Given the description of an element on the screen output the (x, y) to click on. 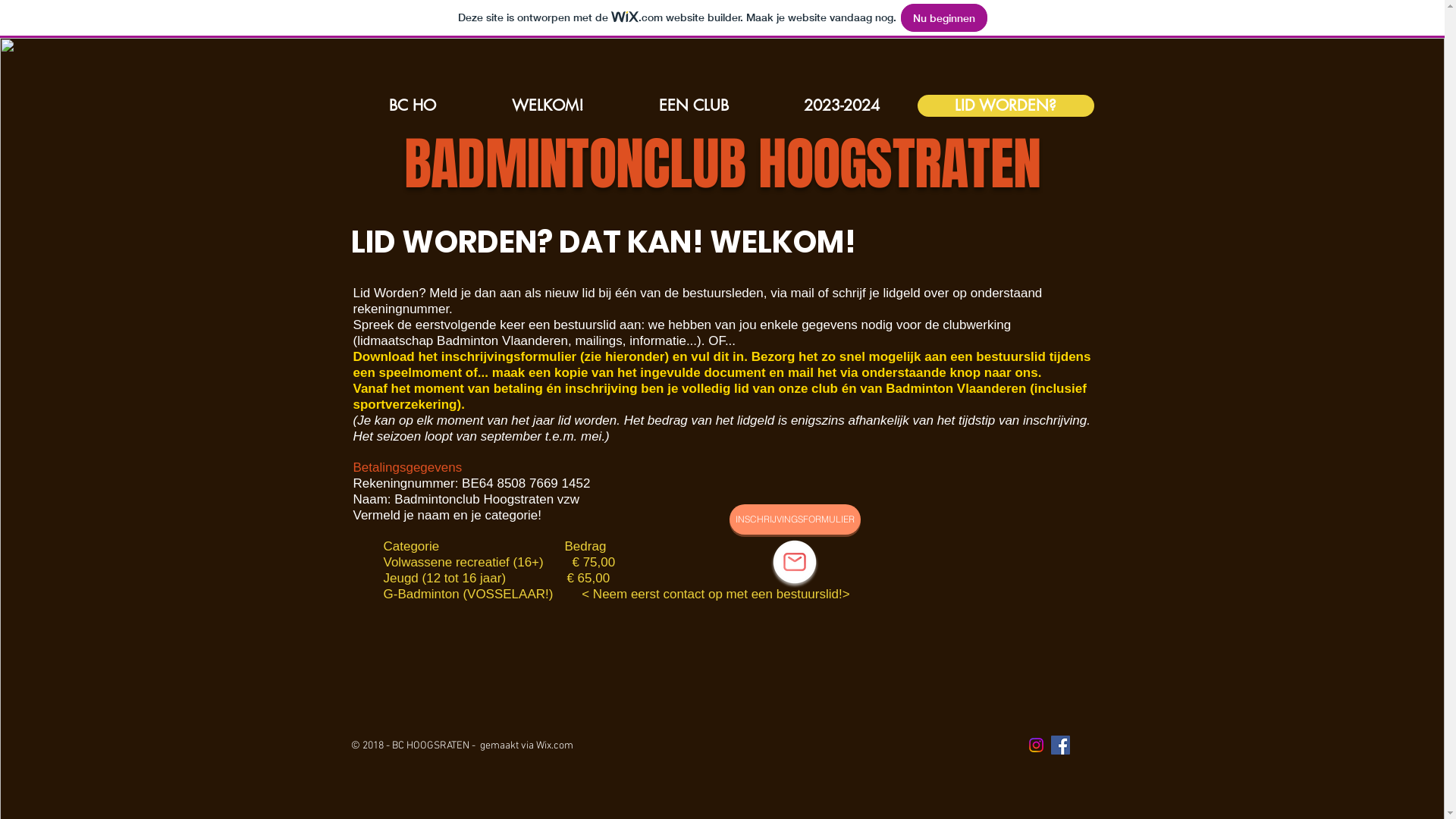
BC HO Element type: text (411, 105)
Wix.com Element type: text (553, 745)
WELKOM! Element type: text (547, 105)
INSCHRIJVINGSFORMULIER Element type: text (794, 519)
2023-2024 Element type: text (840, 105)
EEN CLUB Element type: text (693, 105)
LID WORDEN? Element type: text (1005, 105)
